Given the description of an element on the screen output the (x, y) to click on. 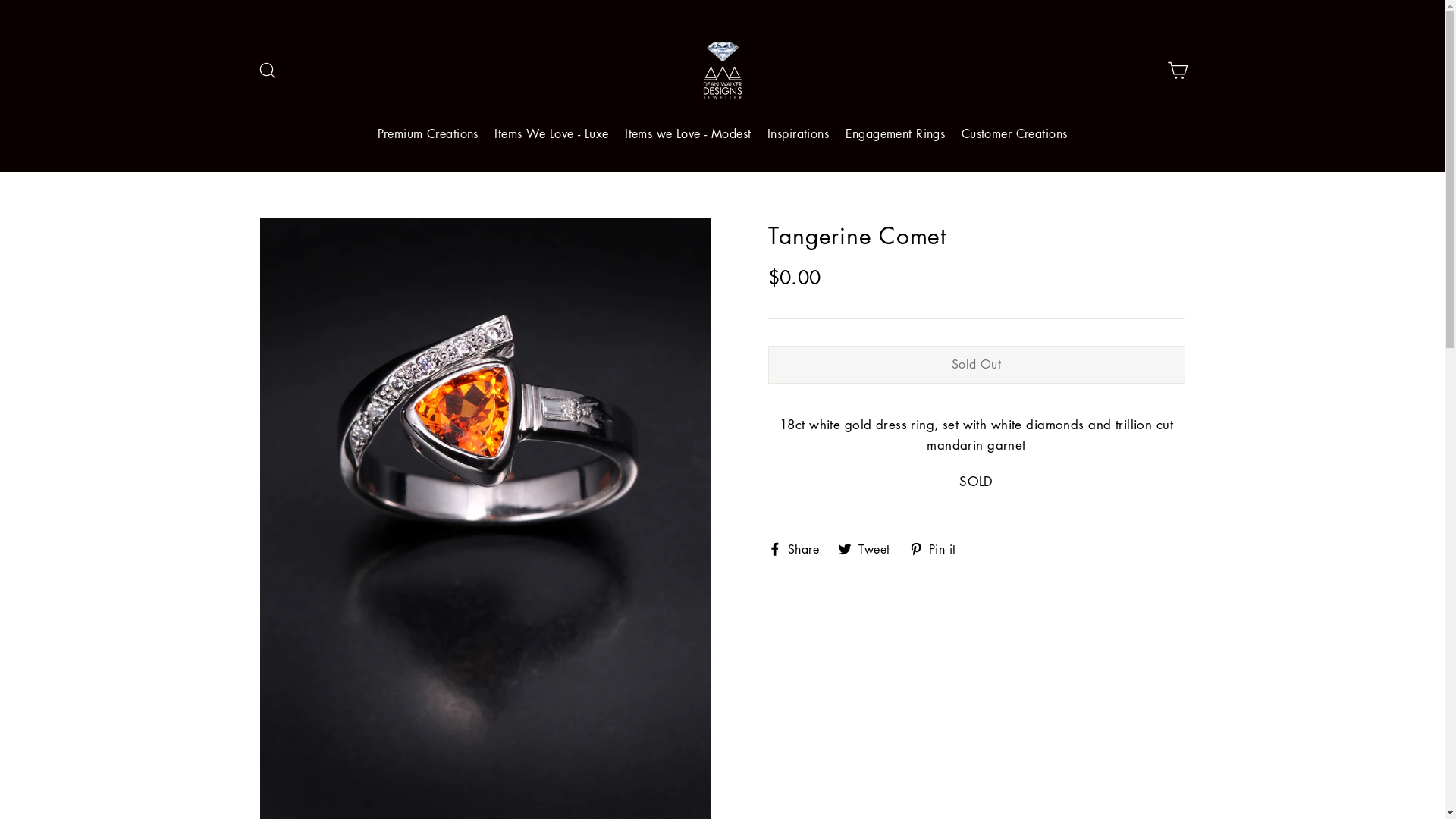
Inspirations Element type: text (797, 134)
Cart Element type: text (1176, 70)
Search Element type: text (266, 70)
Sold Out Element type: text (975, 364)
Engagement Rings Element type: text (895, 134)
Pin it
Pin on Pinterest Element type: text (938, 547)
Items we Love - Modest Element type: text (687, 134)
Items We Love - Luxe Element type: text (551, 134)
Share
Share on Facebook Element type: text (798, 547)
Customer Creations Element type: text (1014, 134)
Tweet
Tweet on Twitter Element type: text (869, 547)
Premium Creations Element type: text (427, 134)
Skip to content Element type: text (0, 0)
